Given the description of an element on the screen output the (x, y) to click on. 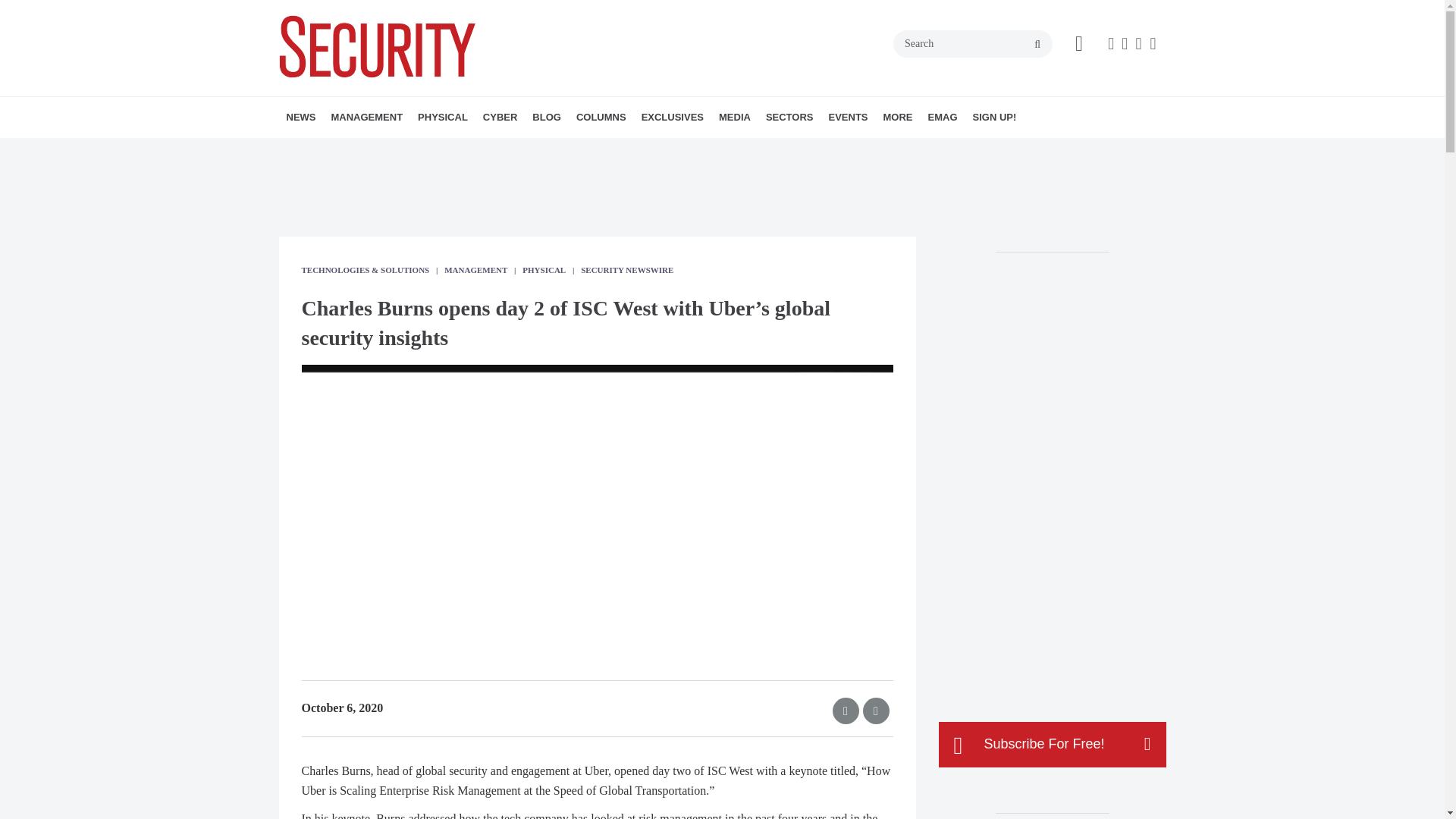
VIDEO SURVEILLANCE (512, 150)
ACCESS MANAGEMENT (504, 150)
Search (972, 43)
IDENTITY MANAGEMENT (517, 150)
CYBER TACTICS (663, 150)
CAREER INTELLIGENCE (682, 150)
SECURITY TALK (676, 150)
PHYSICAL (443, 117)
LEADER TO LEADER (686, 150)
CYBERSECURITY NEWS (570, 150)
